Given the description of an element on the screen output the (x, y) to click on. 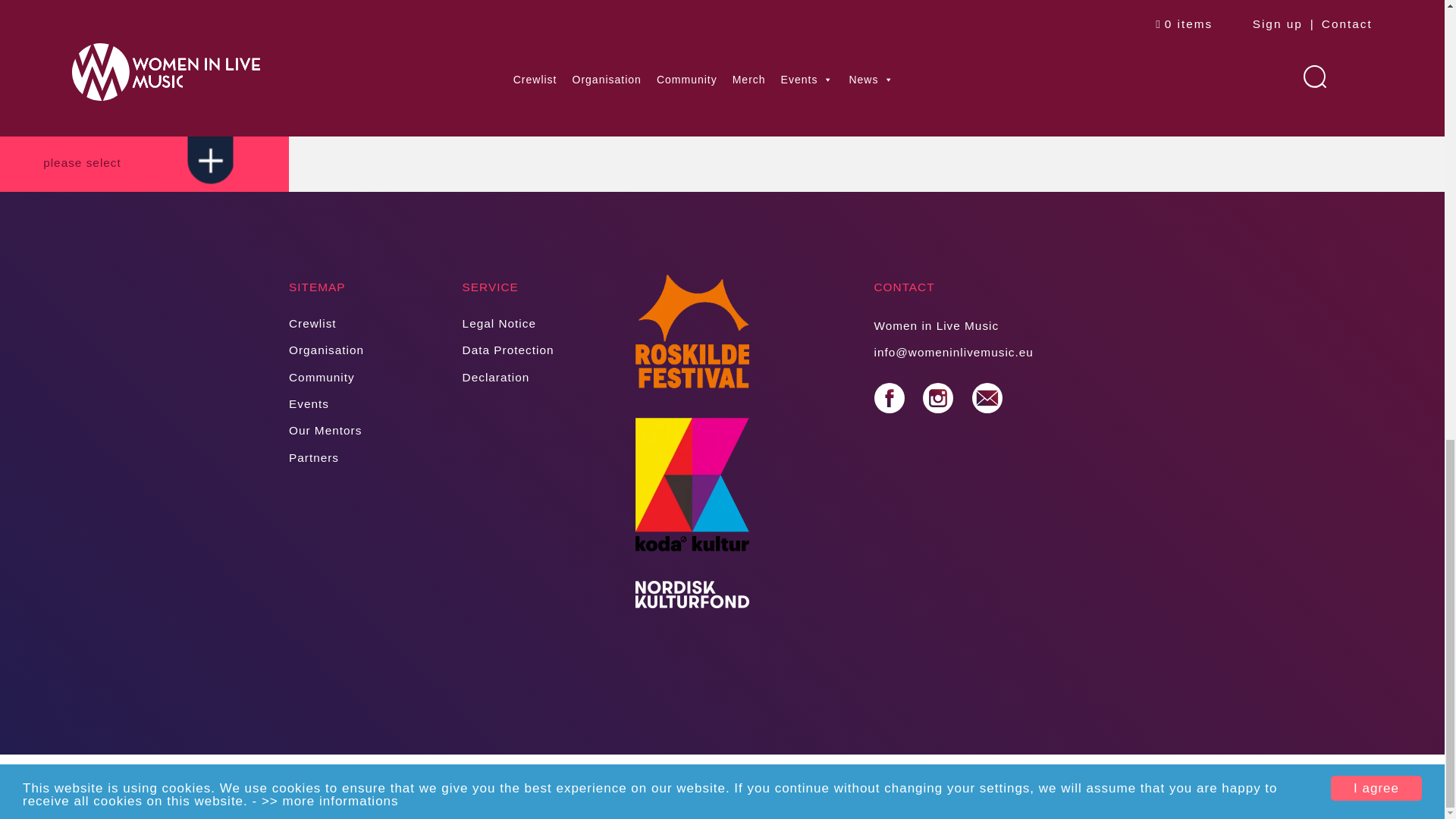
Community (321, 377)
Partners (313, 457)
Our Mentors (324, 430)
Crewlist (312, 323)
Legal Notice (499, 323)
Organisation (326, 349)
facebook (888, 398)
Data Protection Declaration (508, 363)
Events (308, 403)
instagram (938, 398)
